Given the description of an element on the screen output the (x, y) to click on. 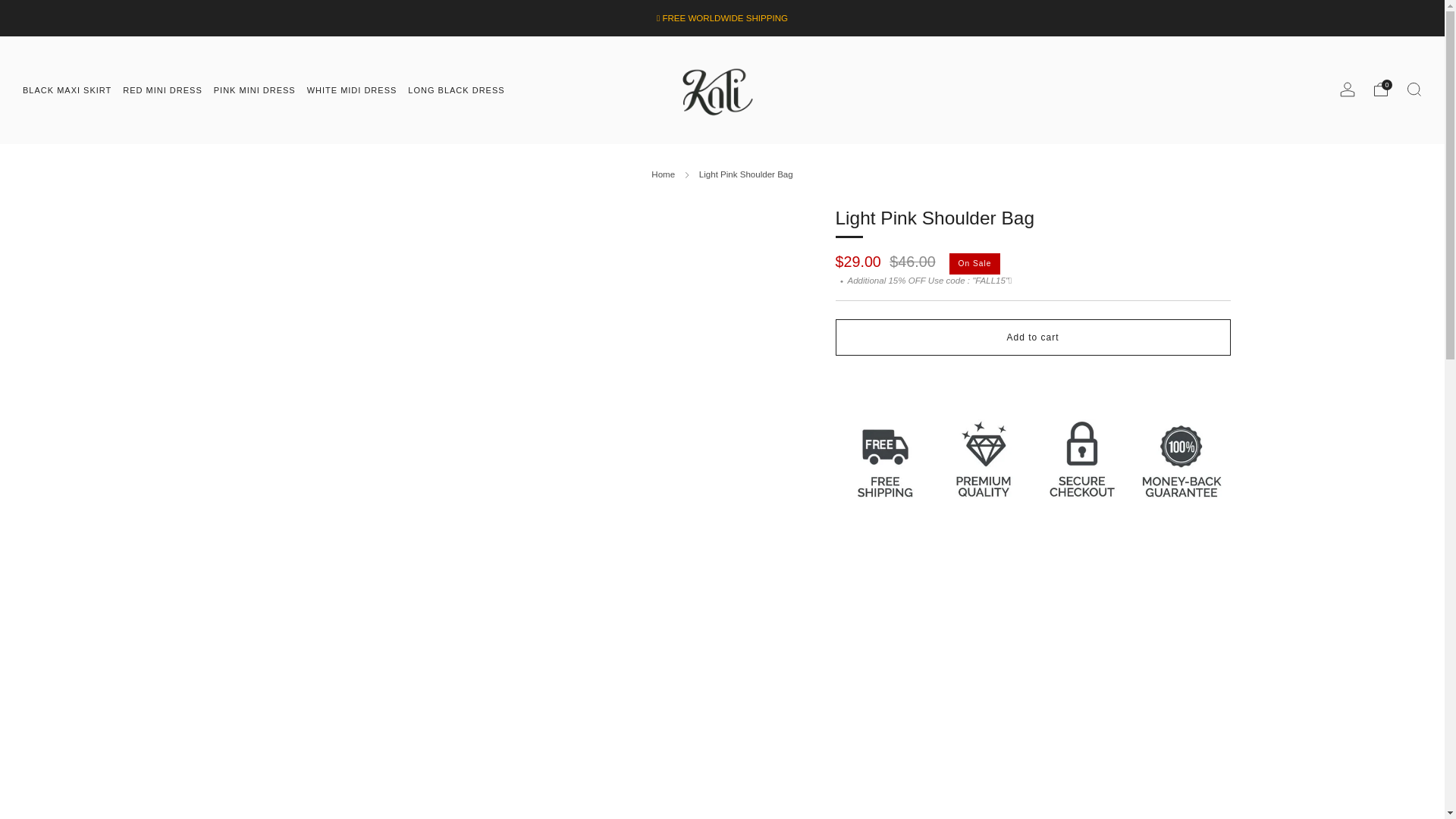
WHITE MIDI DRESS (352, 88)
LONG BLACK DRESS (455, 88)
0 (1381, 89)
RED MINI DRESS (162, 88)
BLACK MAXI SKIRT (67, 88)
PINK MINI DRESS (254, 88)
Add to cart (1032, 337)
Home (662, 174)
Home (662, 174)
